Given the description of an element on the screen output the (x, y) to click on. 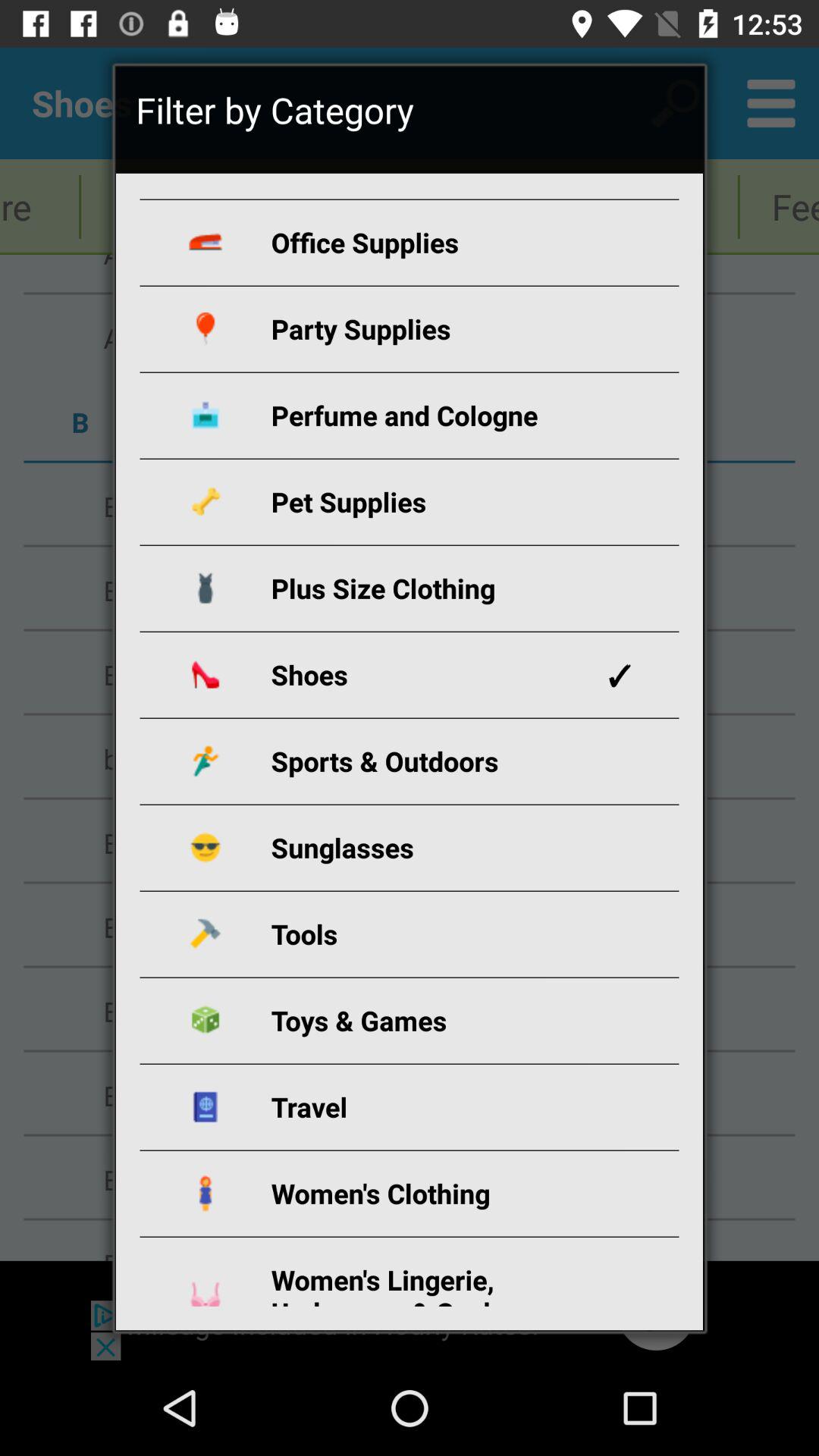
turn on the office supplies (427, 242)
